Given the description of an element on the screen output the (x, y) to click on. 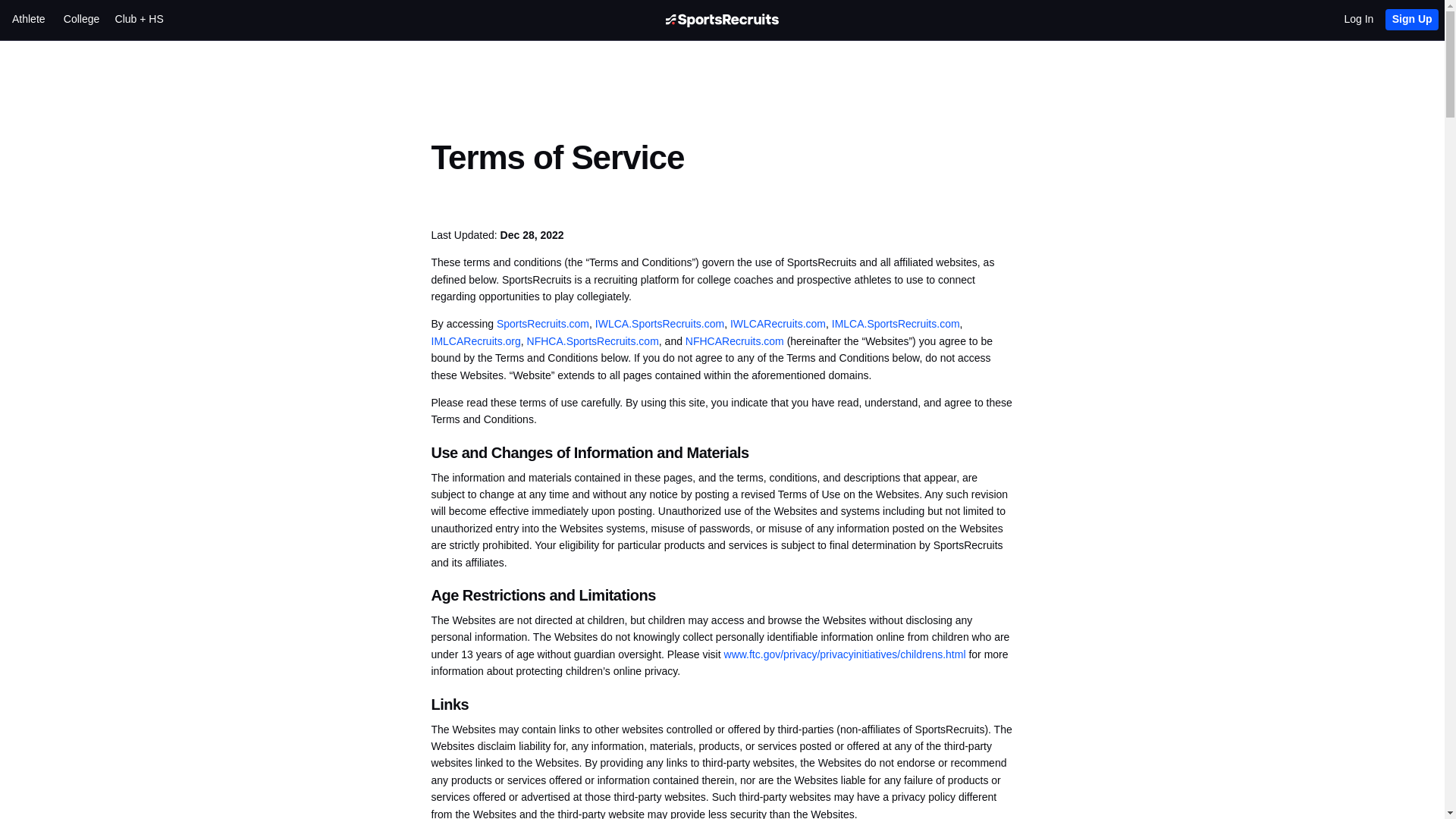
NFHCA.SportsRecruits.com (593, 340)
IWLCARecruits.com (777, 323)
NFHCARecruits.com (734, 340)
Athlete (37, 19)
IWLCA.SportsRecruits.com (659, 323)
College (89, 19)
Log In (1364, 19)
SportsRecruits.com (542, 323)
IMLCA.SportsRecruits.com (895, 323)
IMLCARecruits.org (474, 340)
